Given the description of an element on the screen output the (x, y) to click on. 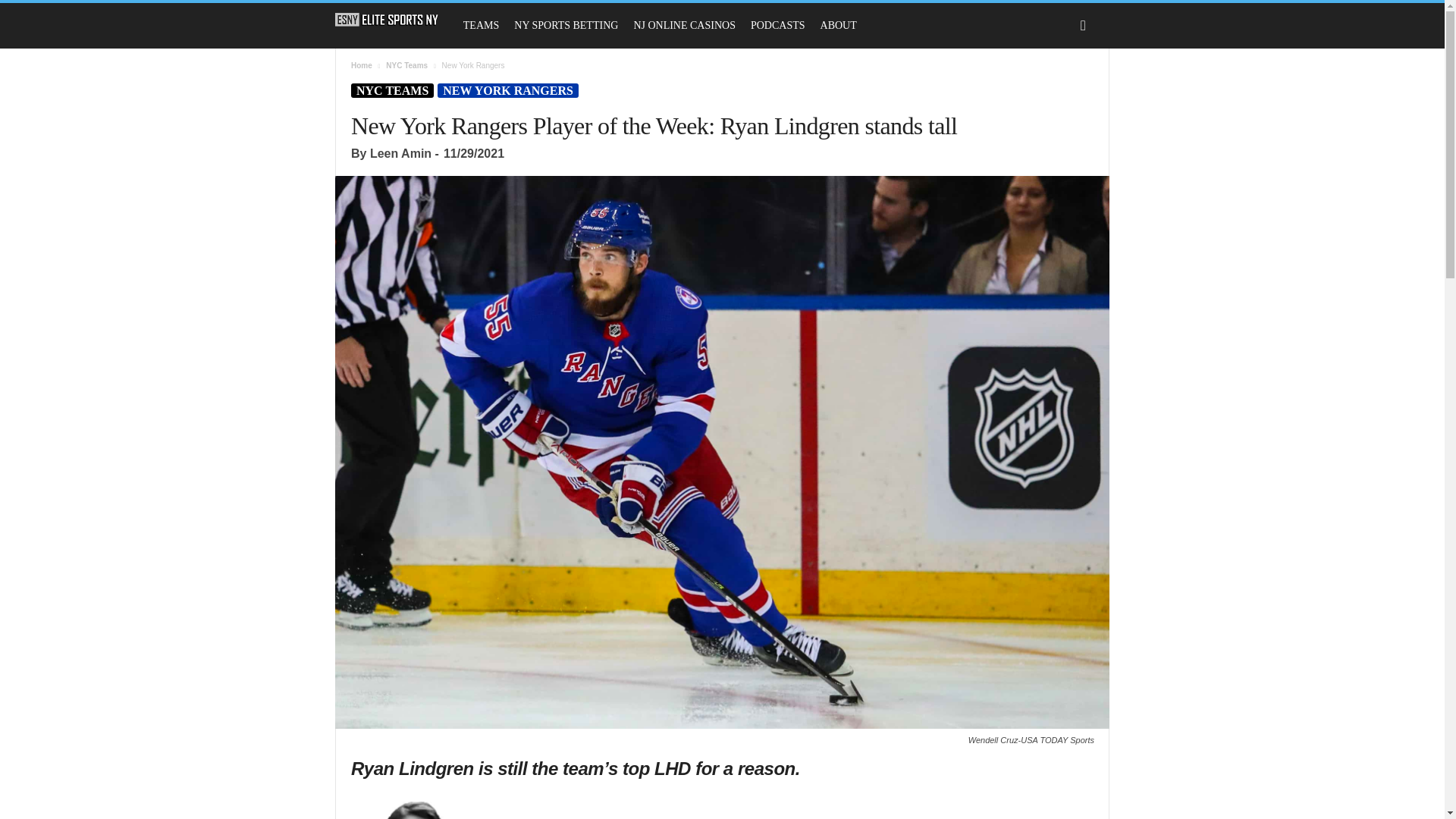
Elite Sports NY (394, 19)
TEAMS (480, 25)
Elite Sports NY (386, 19)
View all posts in NYC Teams (406, 65)
